Given the description of an element on the screen output the (x, y) to click on. 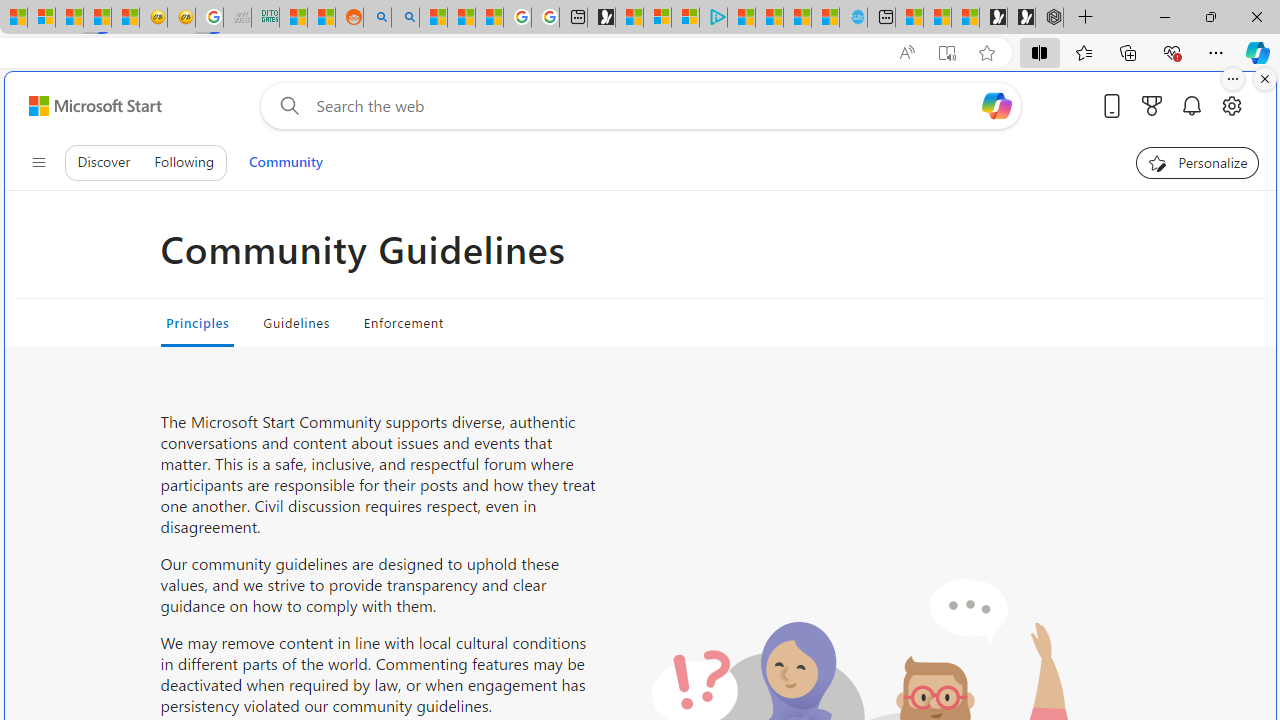
Enforcement (403, 322)
Microsoft account | Privacy (685, 17)
Skip to content (87, 105)
Nordace - Nordace Siena Is Not An Ordinary Backpack (1049, 17)
Enter your search term (644, 106)
